Given the description of an element on the screen output the (x, y) to click on. 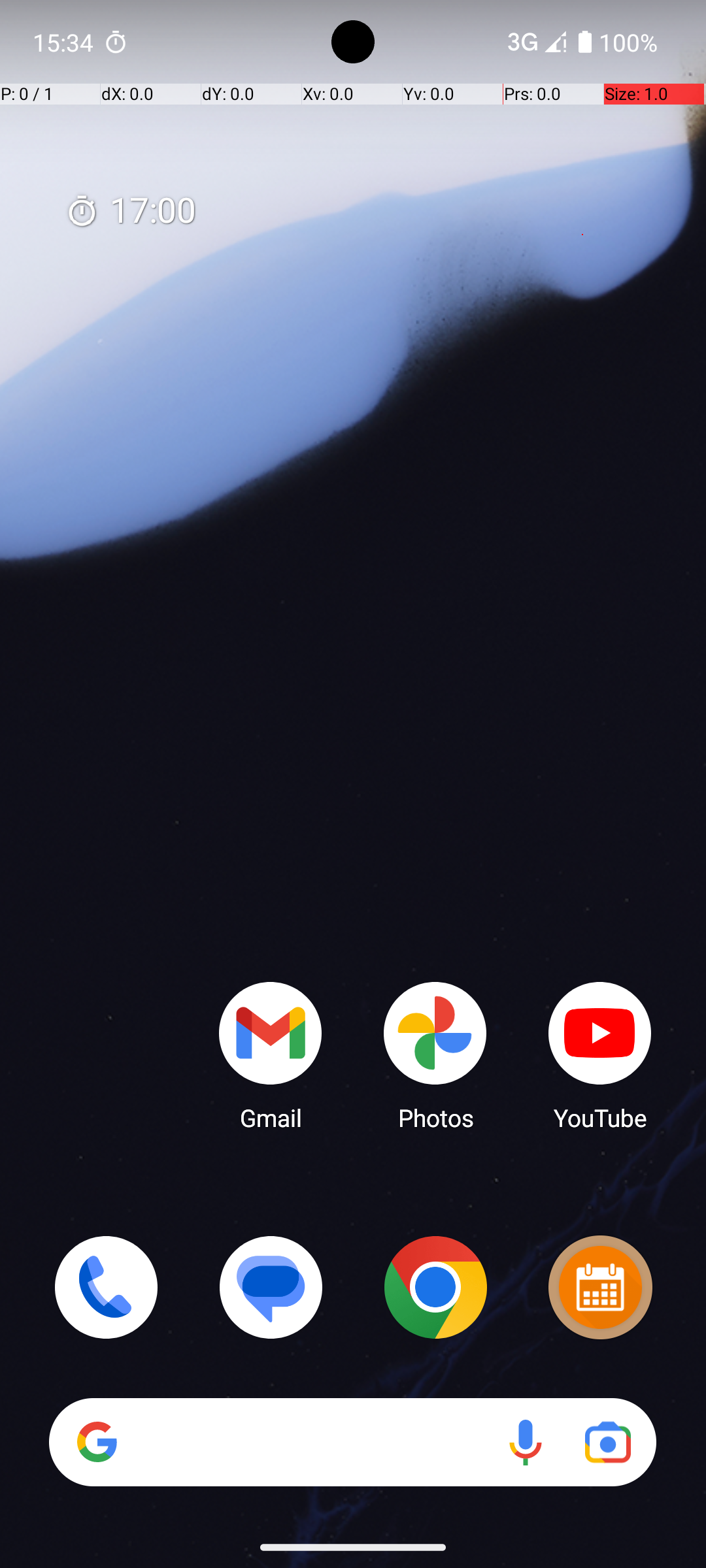
17:00 Element type: android.widget.TextView (130, 210)
